Given the description of an element on the screen output the (x, y) to click on. 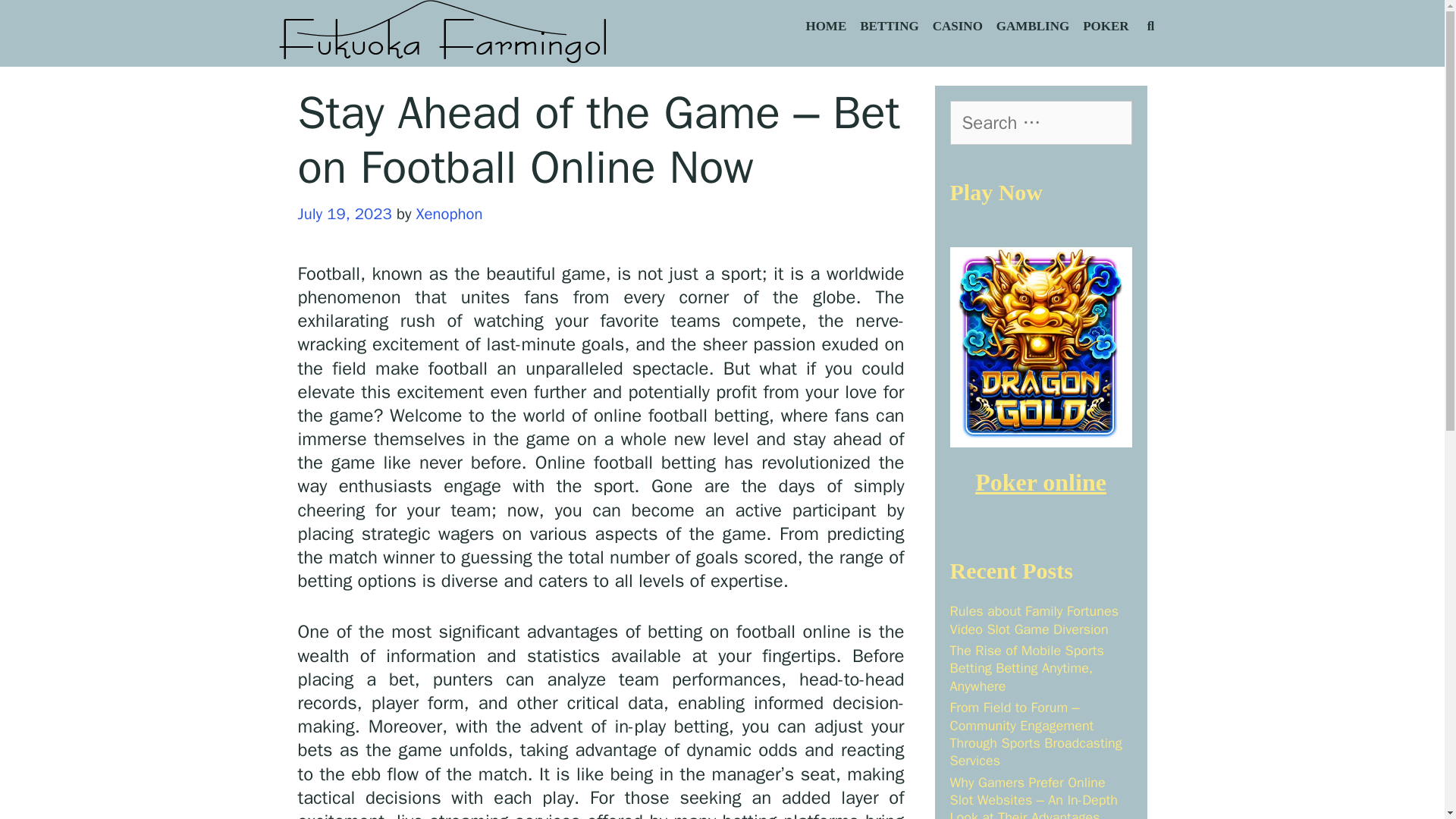
Fukuoka Farmingol (443, 33)
Search for: (1040, 122)
July 19, 2023 (344, 213)
BETTING (888, 26)
POKER (1105, 26)
Rules about Family Fortunes Video Slot Game Diversion (1033, 619)
11:24 am (344, 213)
Poker online (1040, 482)
CASINO (958, 26)
View all posts by Xenophon (449, 213)
Search (40, 20)
Search (183, 26)
Xenophon (449, 213)
HOME (825, 26)
The Rise of Mobile Sports Betting Betting Anytime, Anywhere (1026, 668)
